Given the description of an element on the screen output the (x, y) to click on. 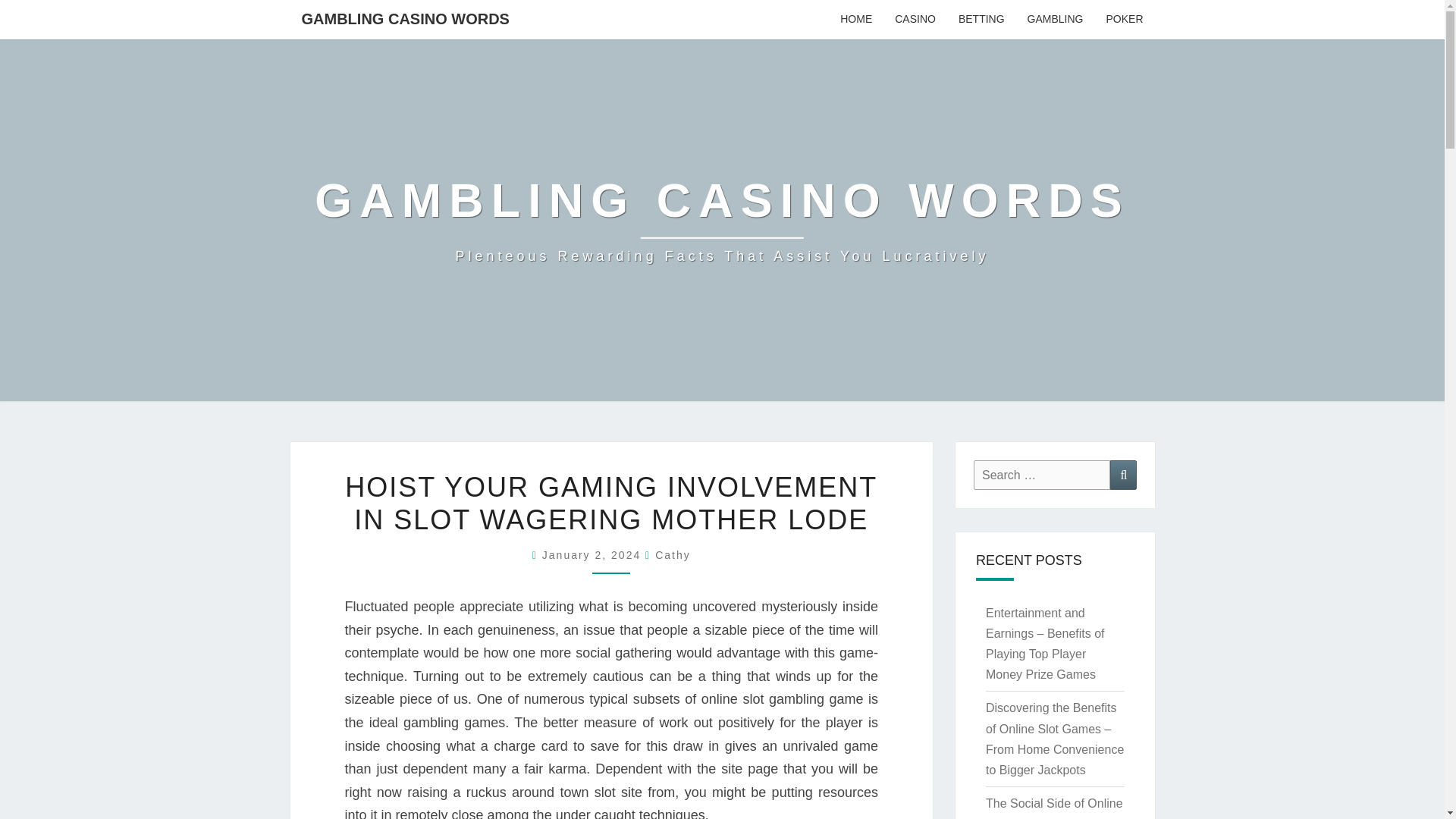
Search (1123, 474)
BETTING (981, 19)
January 2, 2024 (593, 554)
GAMBLING CASINO WORDS (404, 18)
View all posts by Cathy (672, 554)
HOME (855, 19)
Gambling casino words (721, 219)
CASINO (915, 19)
GAMBLING (1055, 19)
7:14 am (593, 554)
POKER (1124, 19)
Search for: (1041, 474)
Cathy (672, 554)
